Given the description of an element on the screen output the (x, y) to click on. 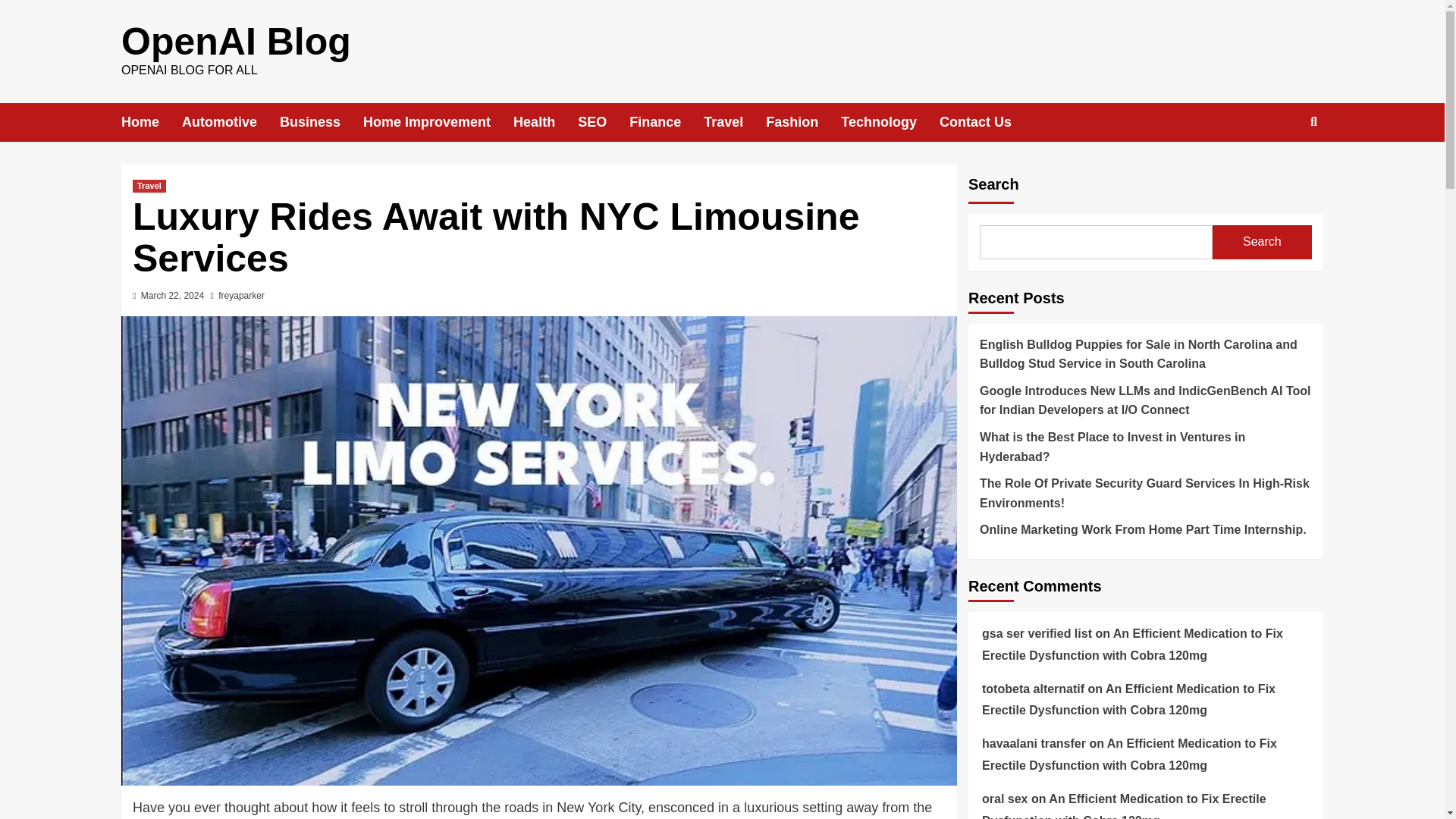
freyaparker (241, 295)
Travel (148, 185)
Home Improvement (437, 122)
Business (320, 122)
Fashion (803, 122)
Search (1278, 170)
Technology (890, 122)
March 22, 2024 (172, 295)
Contact Us (986, 122)
Finance (665, 122)
Health (545, 122)
Home (151, 122)
Travel (734, 122)
OpenAI Blog (235, 41)
SEO (603, 122)
